Given the description of an element on the screen output the (x, y) to click on. 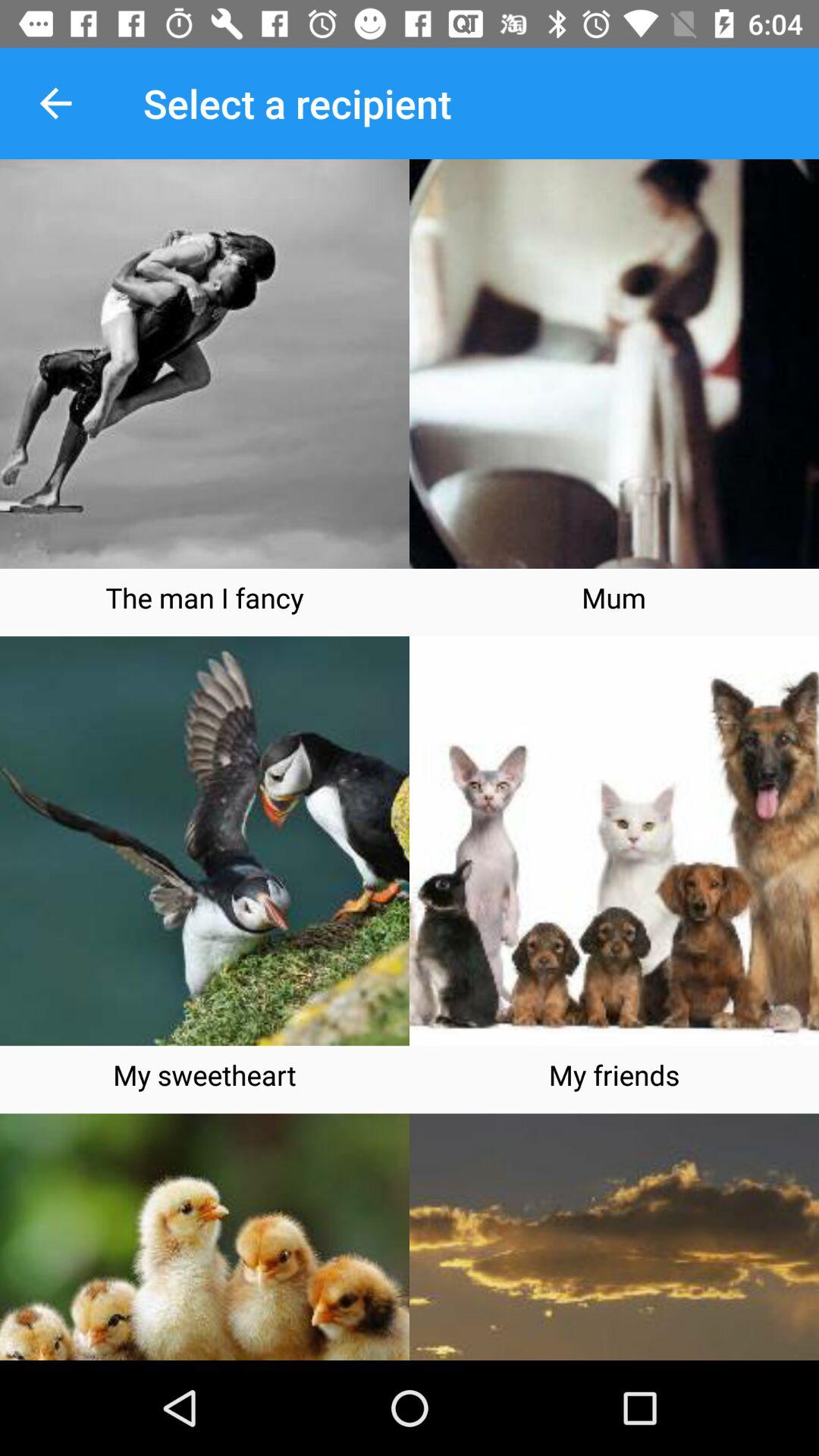
click icon next to select a recipient (55, 103)
